Given the description of an element on the screen output the (x, y) to click on. 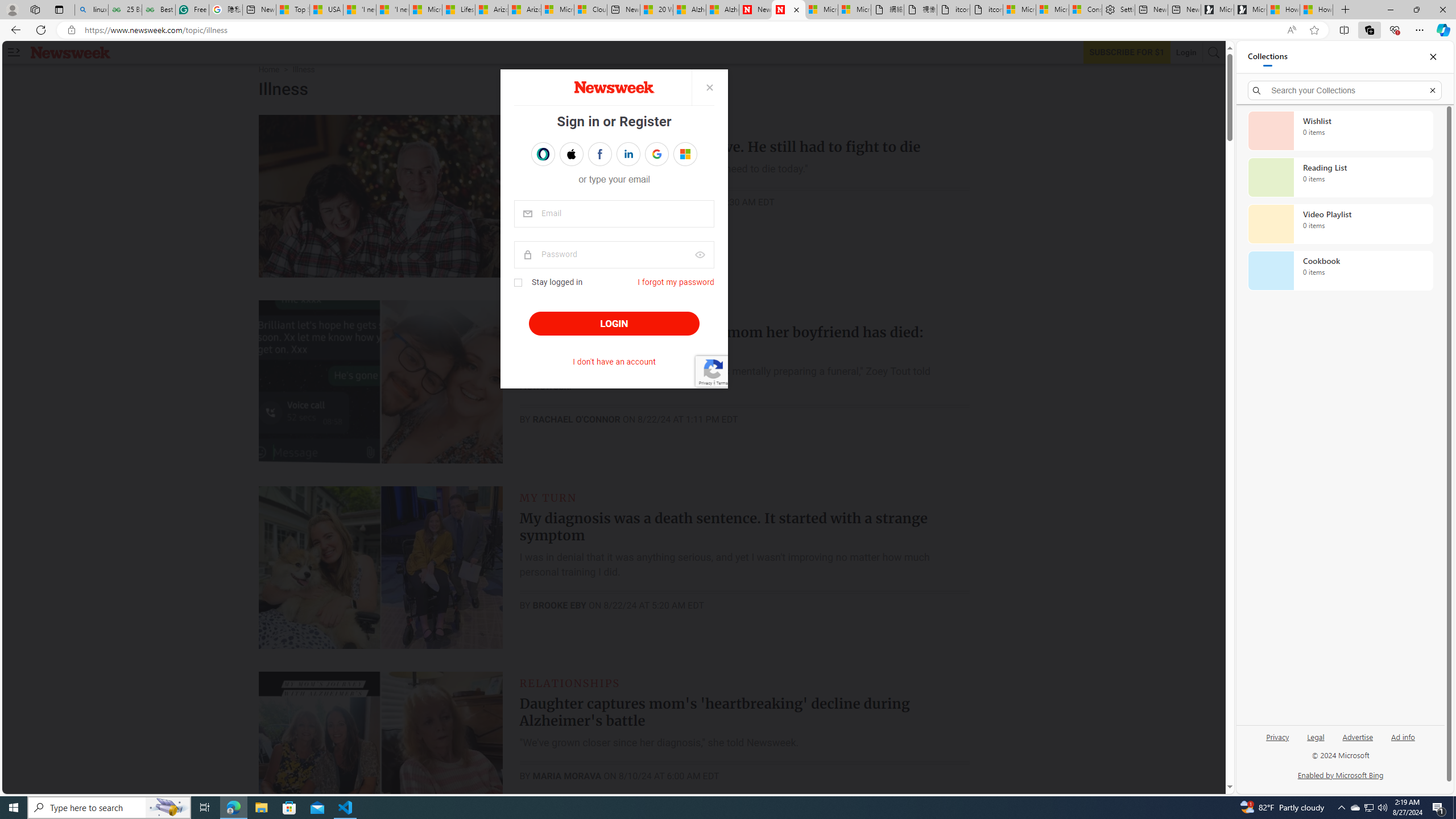
Newsweek logo (70, 51)
Sign in with LINKEDIN (627, 154)
Wishlist collection, 0 items (1339, 130)
ON THE INTERNET (576, 312)
RELATIONSHIPS (569, 682)
linux basic - Search (91, 9)
USA TODAY - MSN (325, 9)
Illness news & latest pictures from Newsweek.com (788, 9)
Sign in with GOOGLE (656, 154)
